Given the description of an element on the screen output the (x, y) to click on. 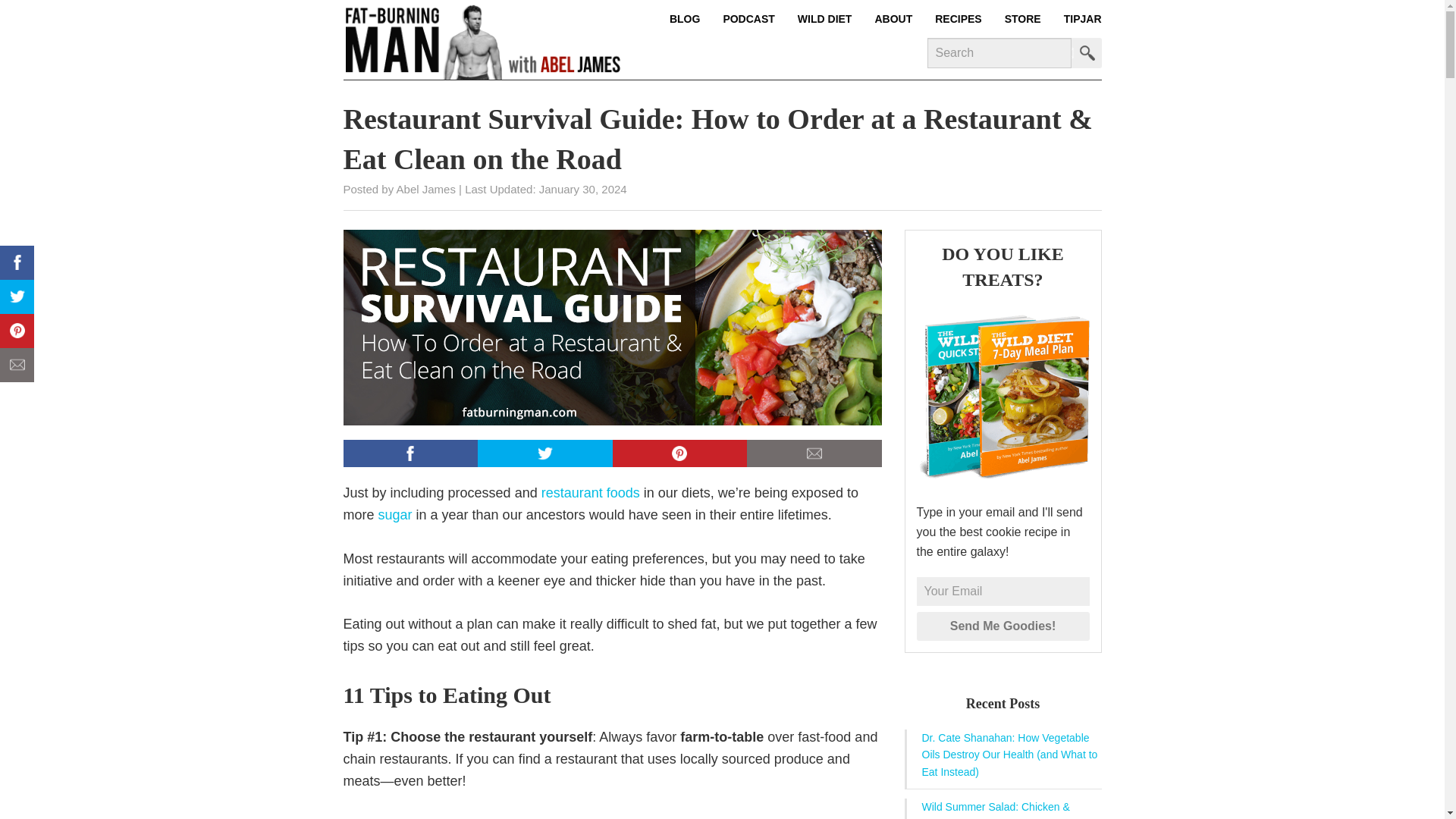
share with: facebook (16, 262)
share with: twitter (544, 452)
Fat-Burning Man (482, 39)
share with: twitter (16, 296)
share with: email (16, 365)
restaurant foods (590, 492)
TIPJAR (1077, 18)
WILD DIET (824, 18)
PODCAST (748, 18)
Abel James (425, 188)
BLOG (689, 18)
RECIPES (958, 18)
share with: email (814, 452)
share with: pinterest (16, 330)
share with: pinterest (680, 452)
